Given the description of an element on the screen output the (x, y) to click on. 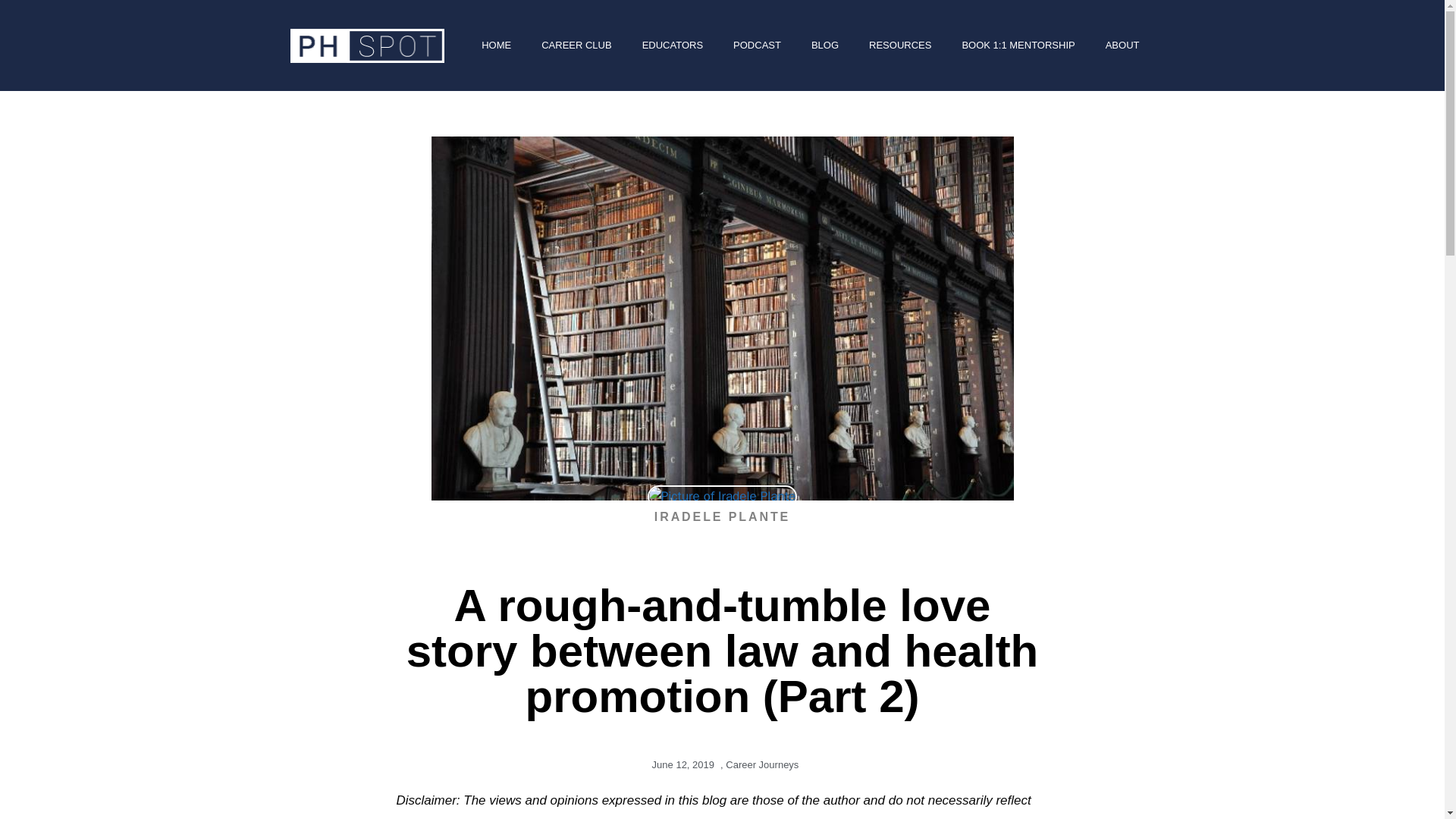
CAREER CLUB (575, 45)
PODCAST (756, 45)
BLOG (824, 45)
BOOK 1:1 MENTORSHIP (1017, 45)
EDUCATORS (672, 45)
RESOURCES (899, 45)
HOME (495, 45)
ABOUT (1122, 45)
